Given the description of an element on the screen output the (x, y) to click on. 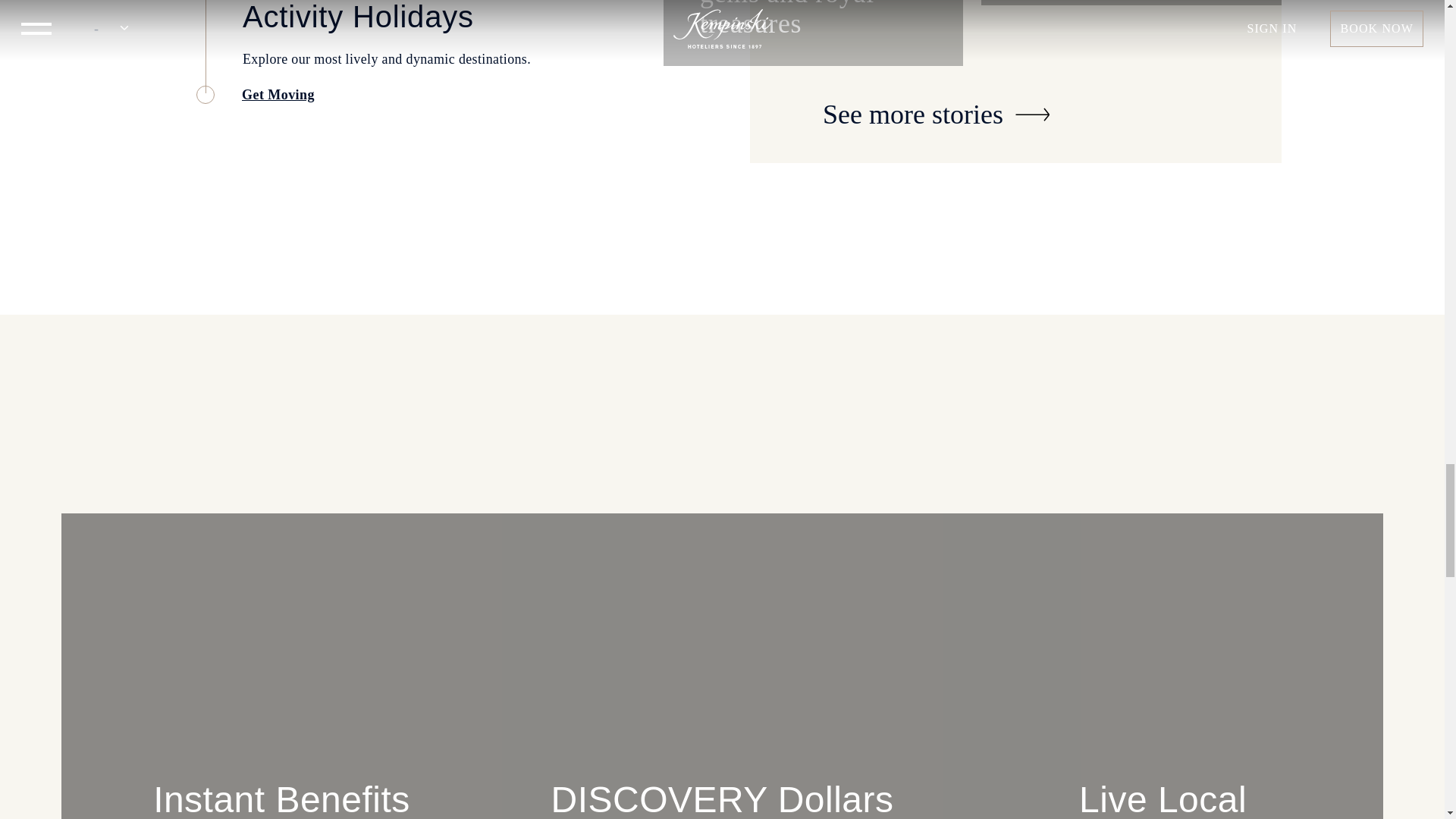
Get Moving (264, 94)
